Given the description of an element on the screen output the (x, y) to click on. 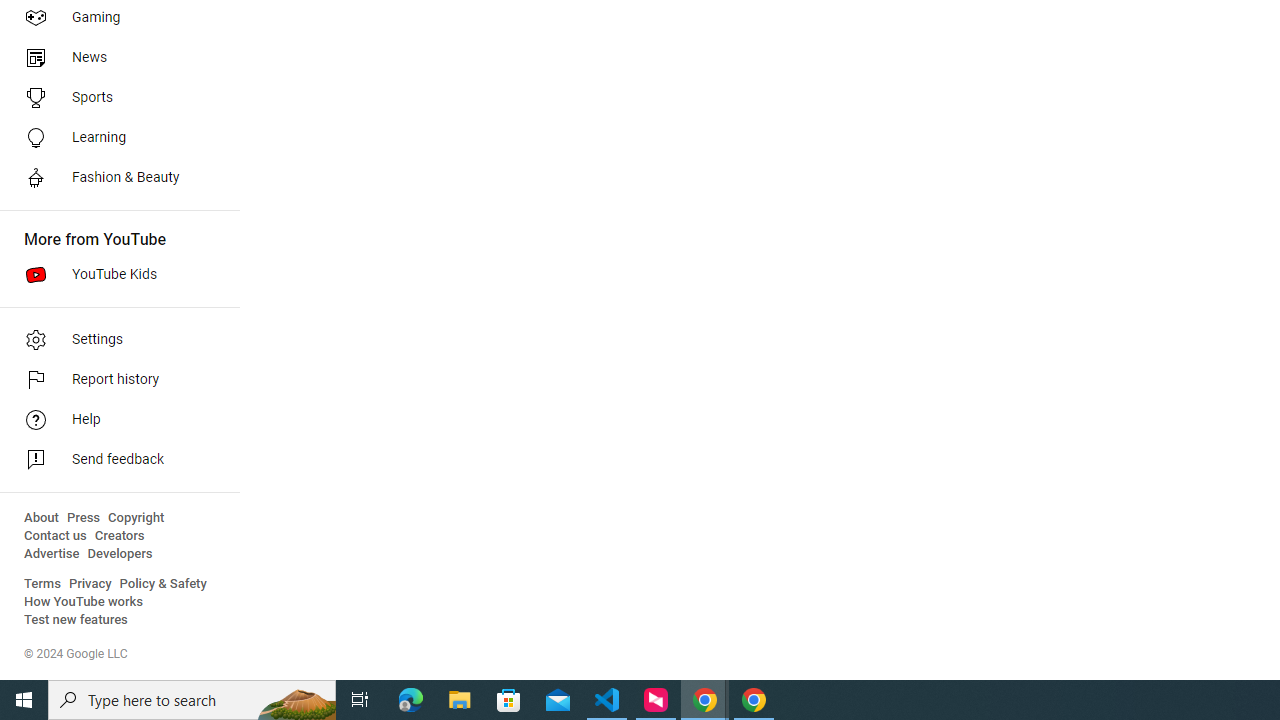
Fashion & Beauty (113, 177)
Terms (42, 584)
YouTube Kids (113, 274)
News (113, 57)
Settings (113, 339)
Privacy (89, 584)
